Given the description of an element on the screen output the (x, y) to click on. 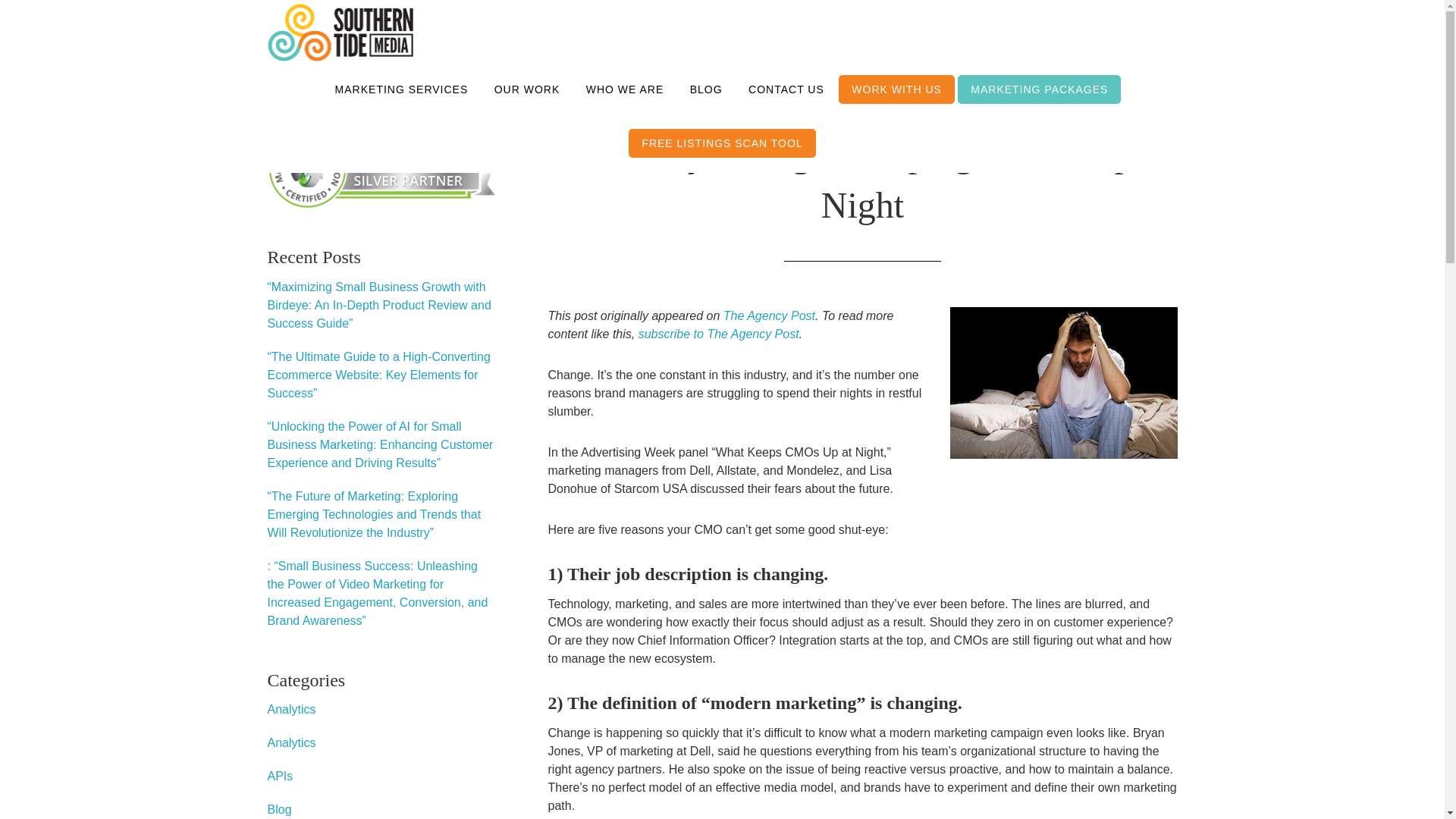
Analytics (290, 708)
WHO WE ARE (625, 89)
MARKETING PACKAGES (1039, 89)
WORK WITH US (896, 89)
Blog (278, 809)
Analytics (290, 742)
OUR WORK (527, 89)
The Agency Post (769, 315)
FREE LISTINGS SCAN TOOL (721, 143)
MARKETING SERVICES (401, 89)
BLOG (705, 89)
APIs (279, 775)
SOUTHERN TIDE MEDIA (339, 32)
subscribe to The Agency Post (719, 333)
CONTACT US (785, 89)
